Given the description of an element on the screen output the (x, y) to click on. 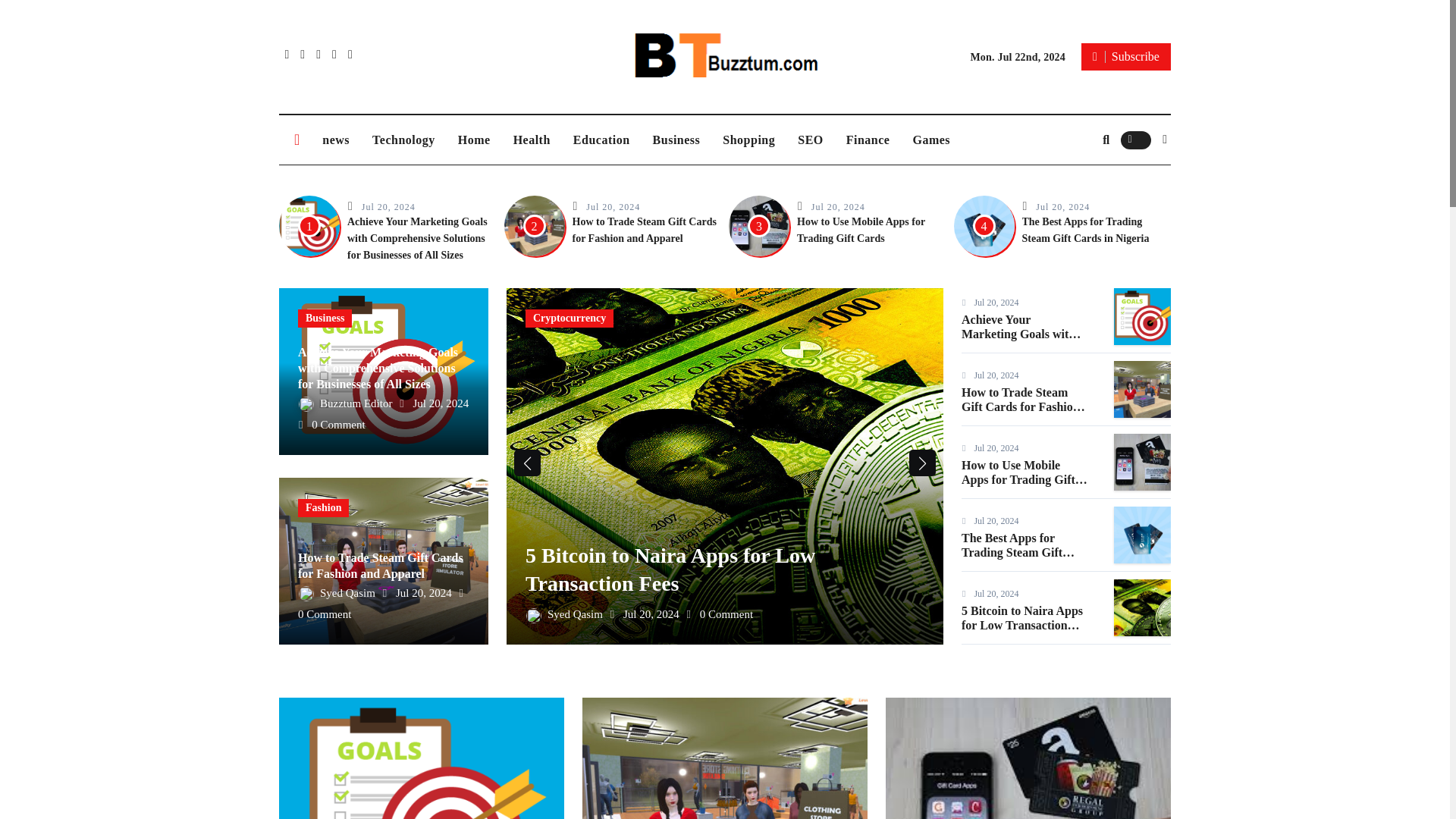
The Best Apps for Trading Steam Gift Cards in Nigeria (1086, 230)
Subscribe (1125, 56)
Technology (403, 139)
Home (474, 139)
Education (602, 139)
Games (930, 139)
SEO (810, 139)
Games (930, 139)
SEO (810, 139)
news (336, 139)
Health (532, 139)
Shopping (748, 139)
Business (325, 318)
How to Trade Steam Gift Cards for Fashion and Apparel (644, 230)
news (336, 139)
